Given the description of an element on the screen output the (x, y) to click on. 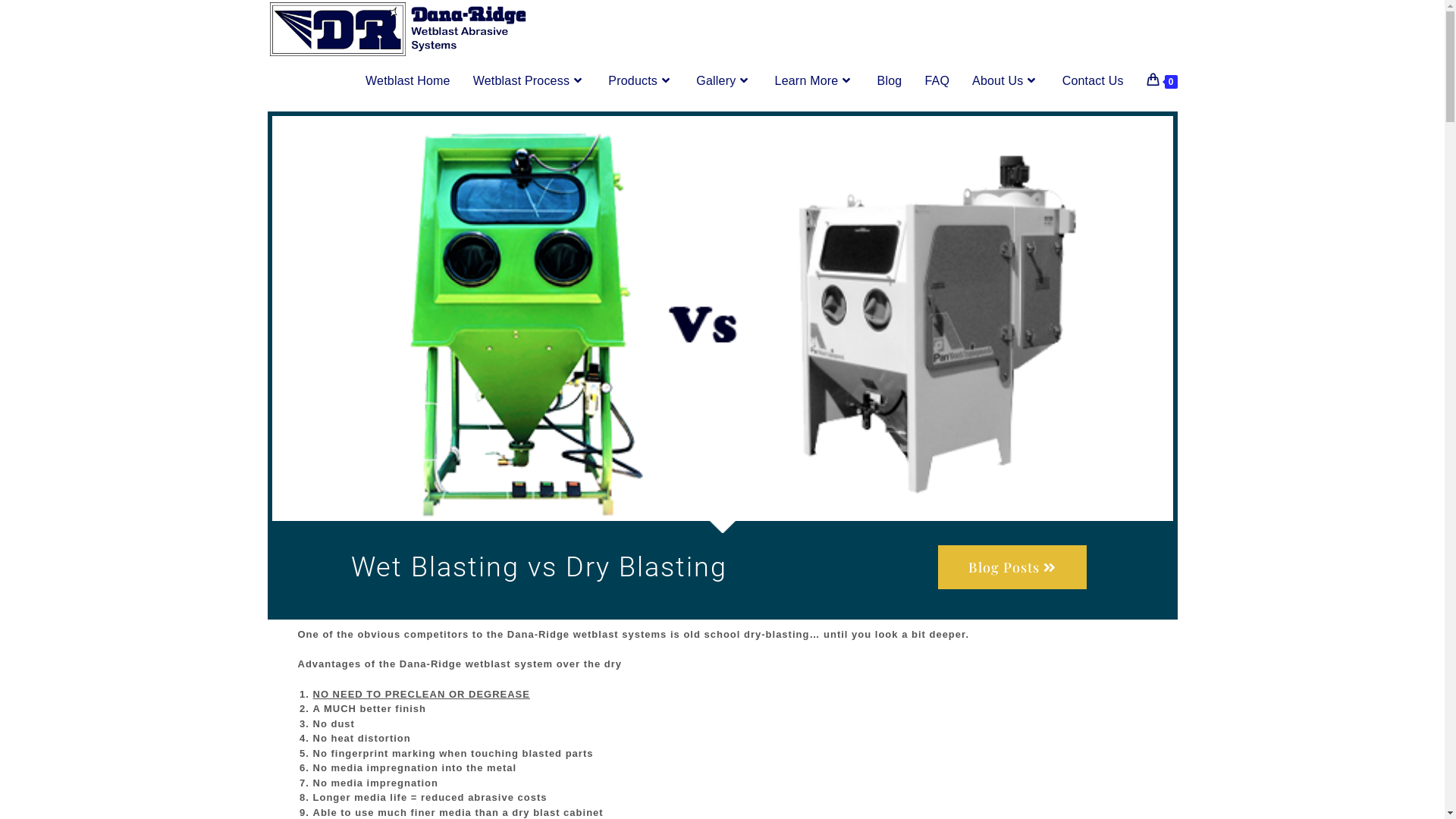
Products Element type: text (640, 80)
Blog Element type: text (889, 80)
Gallery Element type: text (723, 80)
Wetblast Home Element type: text (407, 80)
About Us Element type: text (1005, 80)
0 Element type: text (1162, 80)
Contact Us Element type: text (1093, 80)
FAQ Element type: text (936, 80)
Blog Posts Element type: text (1011, 567)
Wetblast Process Element type: text (529, 80)
Learn More Element type: text (814, 80)
